Given the description of an element on the screen output the (x, y) to click on. 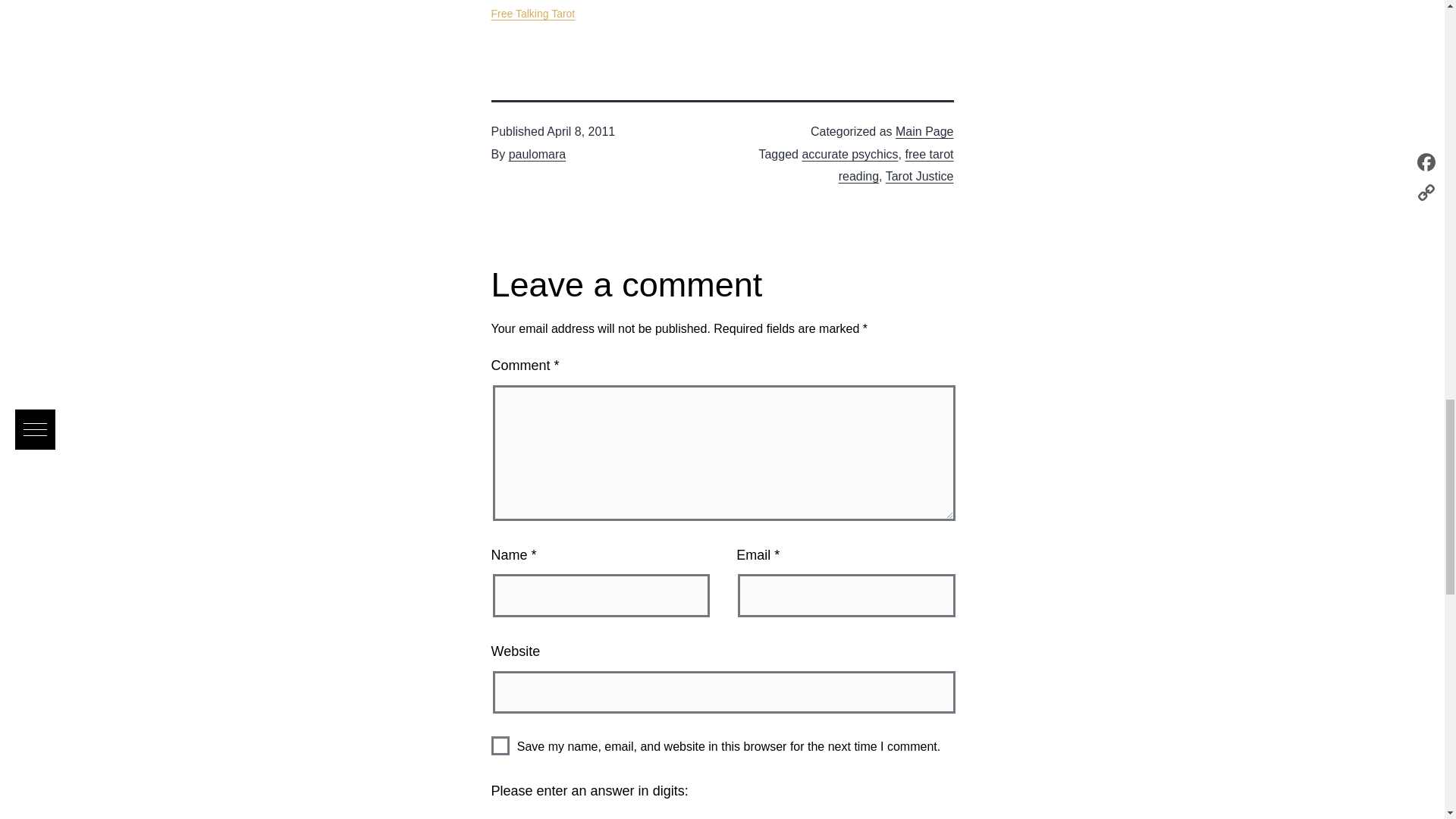
yes (500, 745)
